Given the description of an element on the screen output the (x, y) to click on. 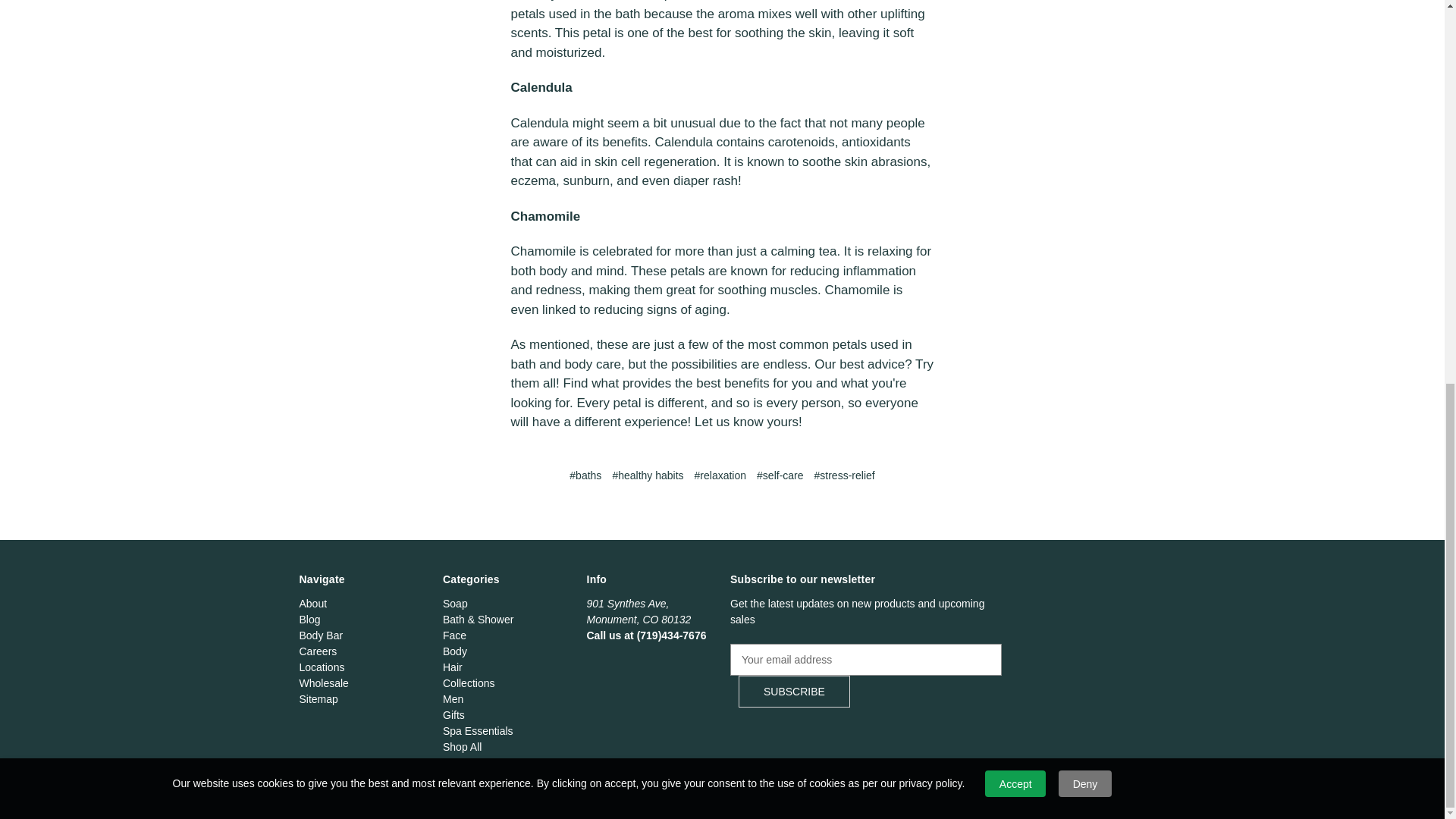
Accept (1015, 64)
Subscribe (794, 691)
Deny (1085, 64)
